Given the description of an element on the screen output the (x, y) to click on. 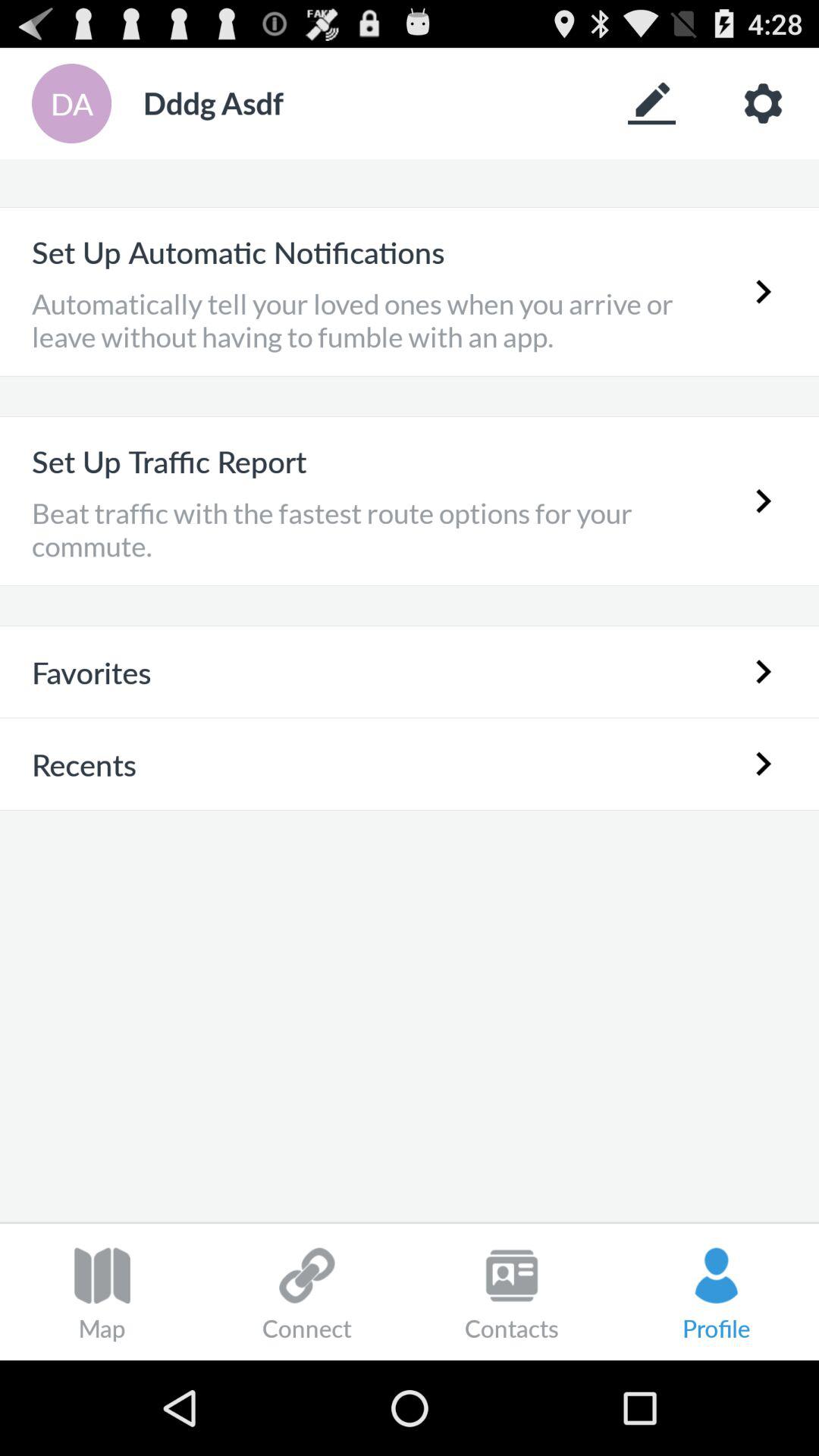
edit data (651, 103)
